Given the description of an element on the screen output the (x, y) to click on. 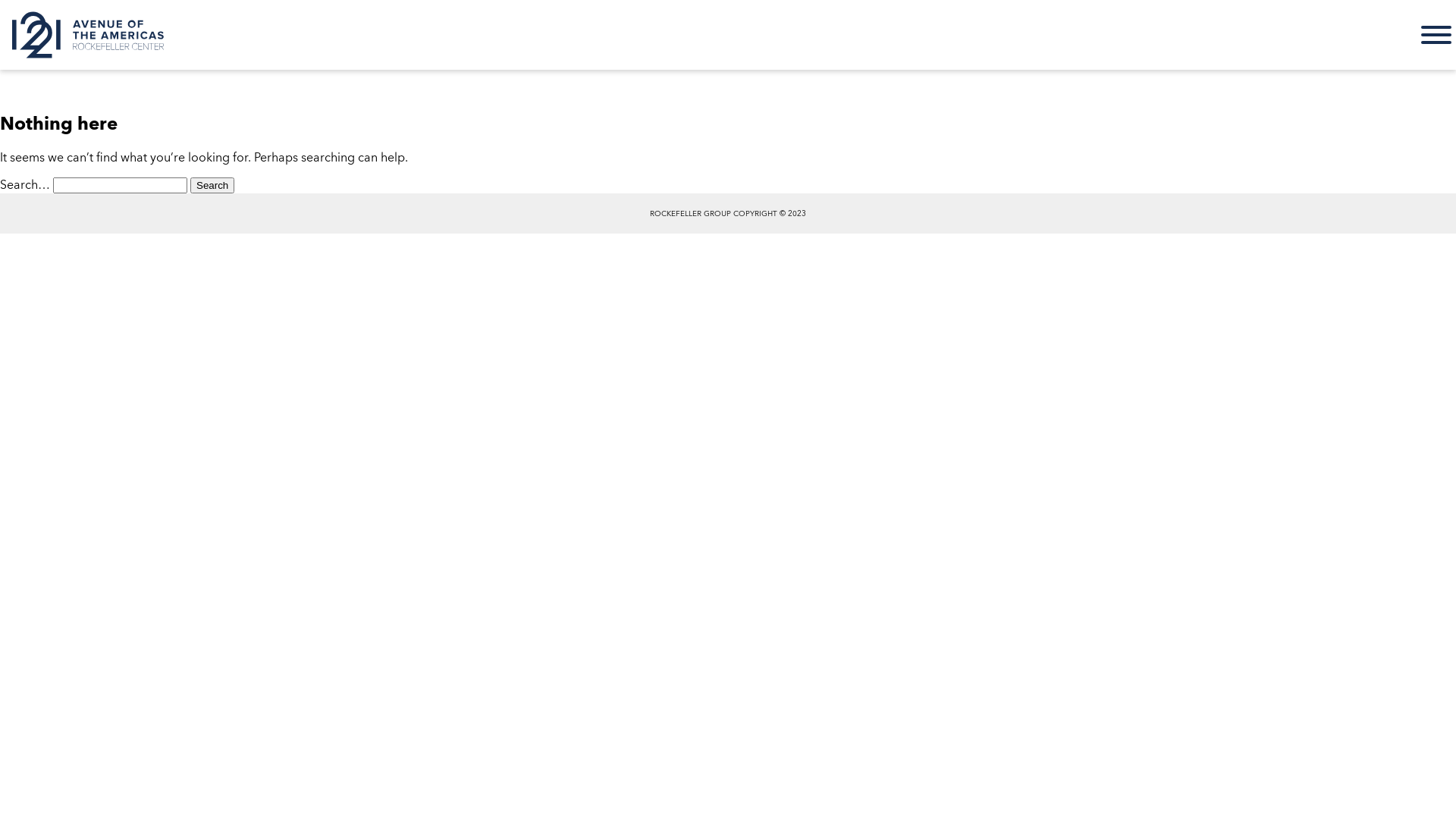
Search Element type: text (212, 185)
